Given the description of an element on the screen output the (x, y) to click on. 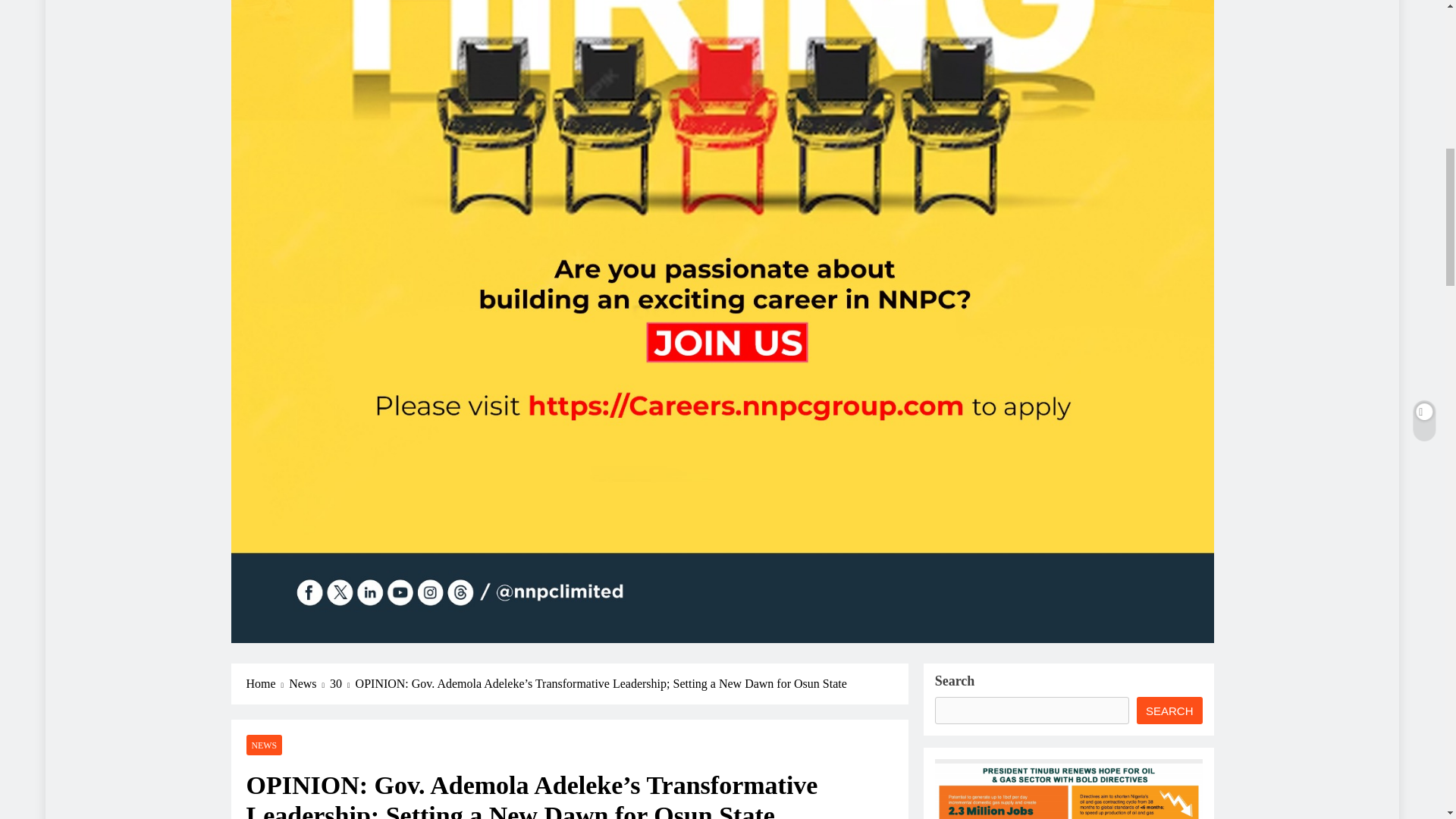
30 (342, 683)
News (309, 683)
NEWS (264, 744)
Home (267, 683)
